Given the description of an element on the screen output the (x, y) to click on. 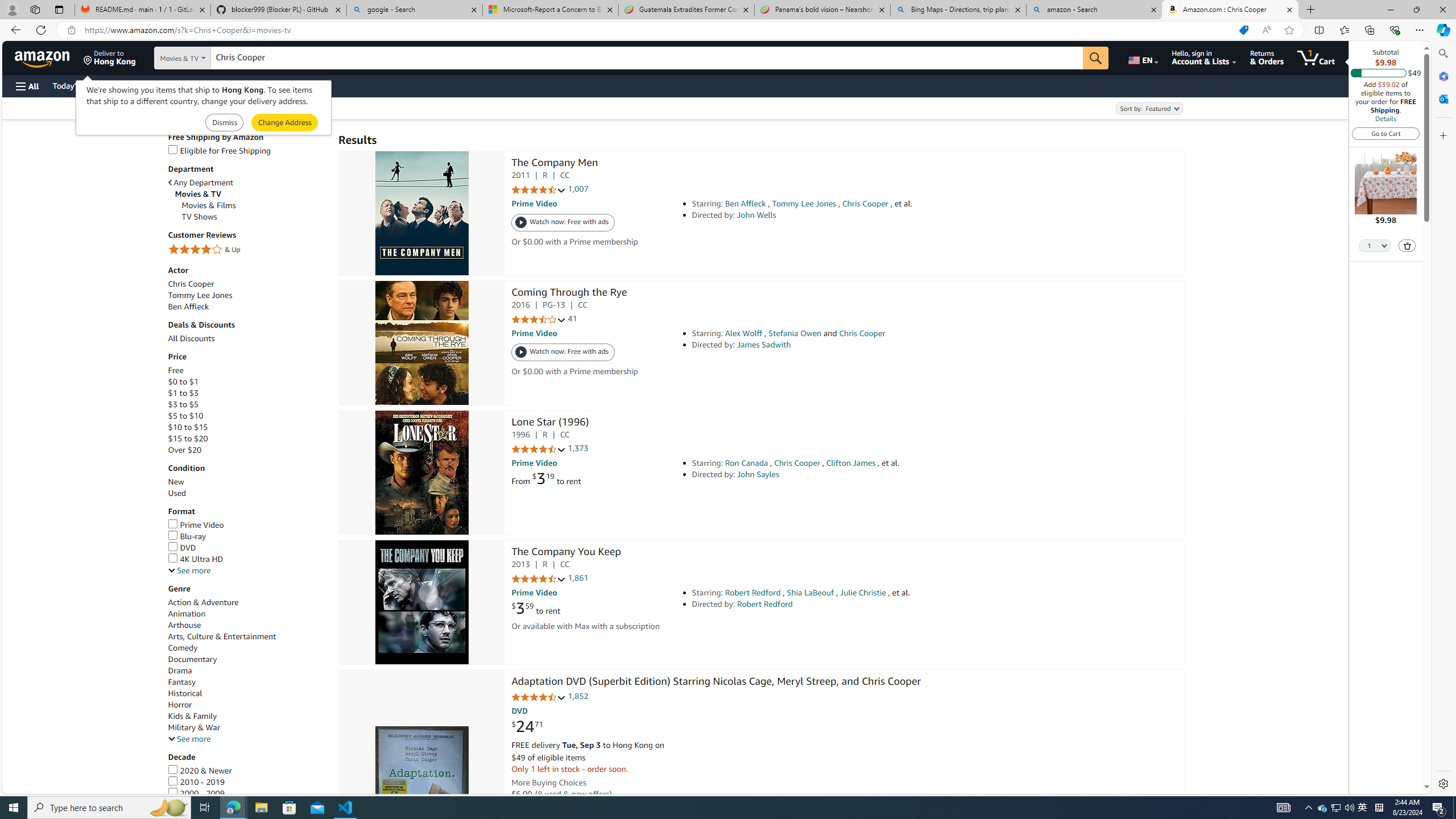
Horror (247, 705)
Lone Star (1996) (550, 422)
From $3.19 to rent (545, 478)
TV Shows (254, 216)
Free (247, 370)
Animation (186, 613)
Deliver to Hong Kong (109, 57)
Movies & TV (250, 194)
Directed by: John Wells (850, 215)
Skip to main search results (50, 788)
Submit (284, 122)
Blu-ray (247, 536)
